Given the description of an element on the screen output the (x, y) to click on. 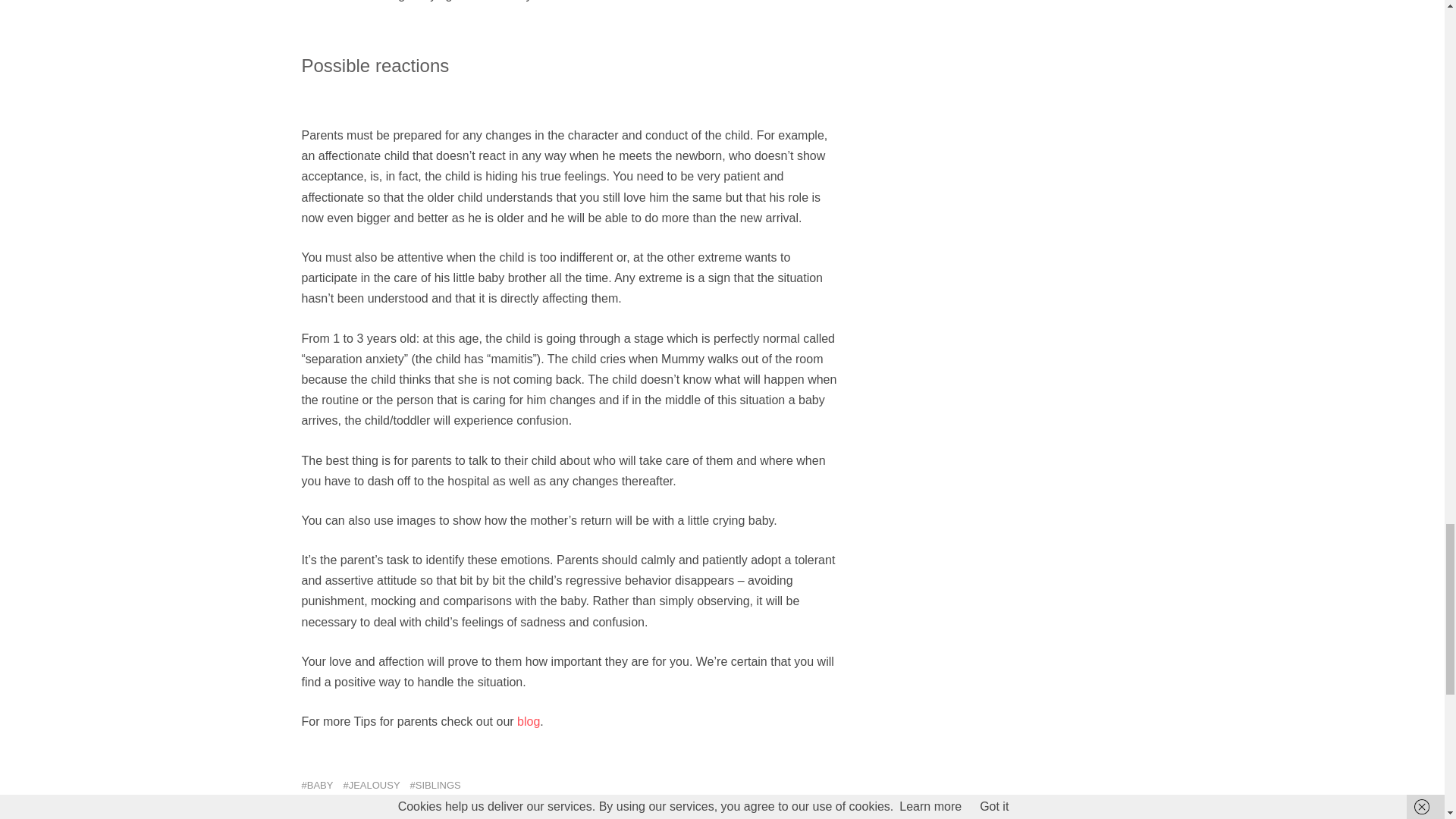
blog (528, 721)
SIBLINGS (435, 785)
BABY (317, 785)
JEALOUSY (370, 785)
